Given the description of an element on the screen output the (x, y) to click on. 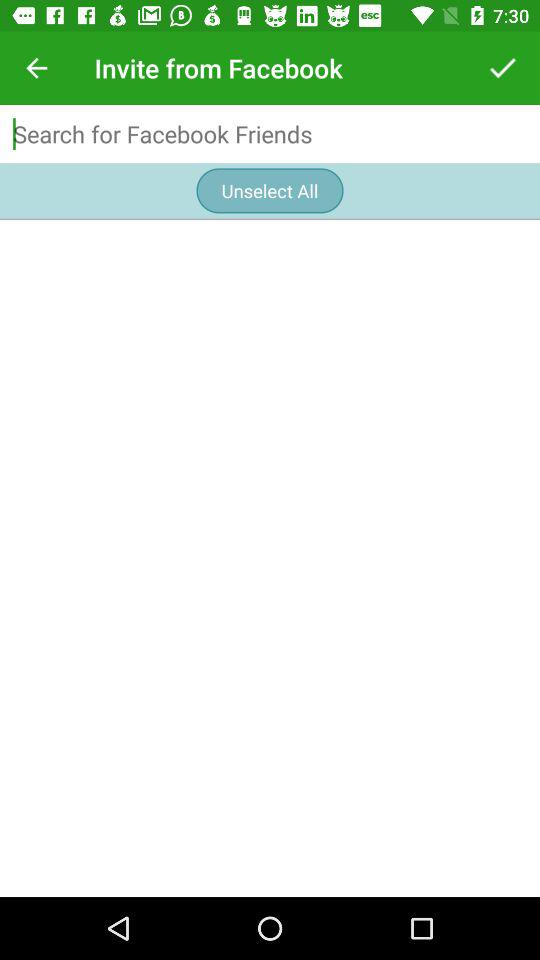
launch icon at the top left corner (36, 68)
